Given the description of an element on the screen output the (x, y) to click on. 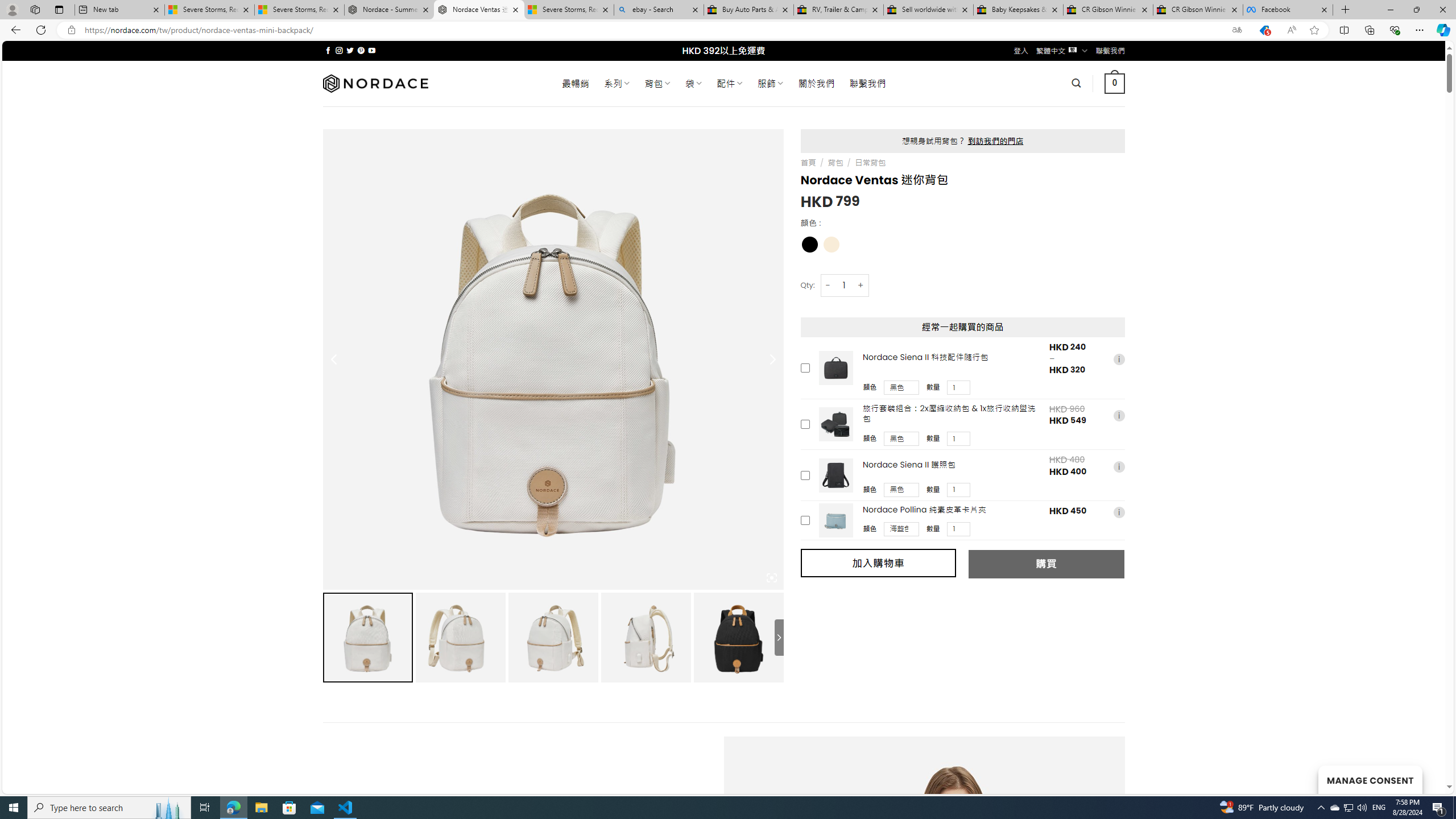
MANAGE CONSENT (1369, 779)
+ (861, 284)
This site has coupons! Shopping in Microsoft Edge, 5 (1263, 29)
